Given the description of an element on the screen output the (x, y) to click on. 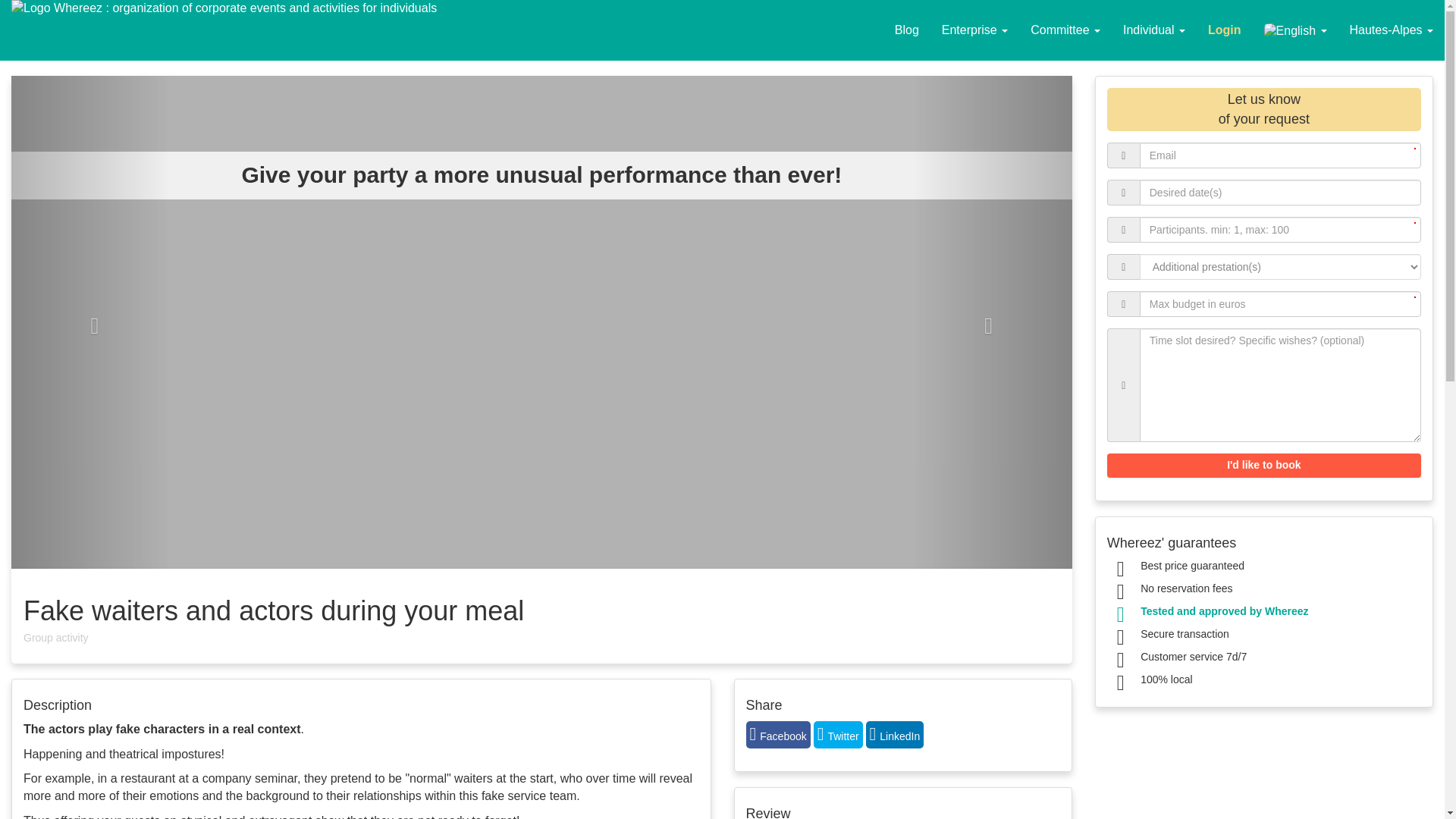
Individual (1154, 30)
Committee (1065, 30)
I'd like to book (1263, 465)
Enterprise (974, 30)
